Given the description of an element on the screen output the (x, y) to click on. 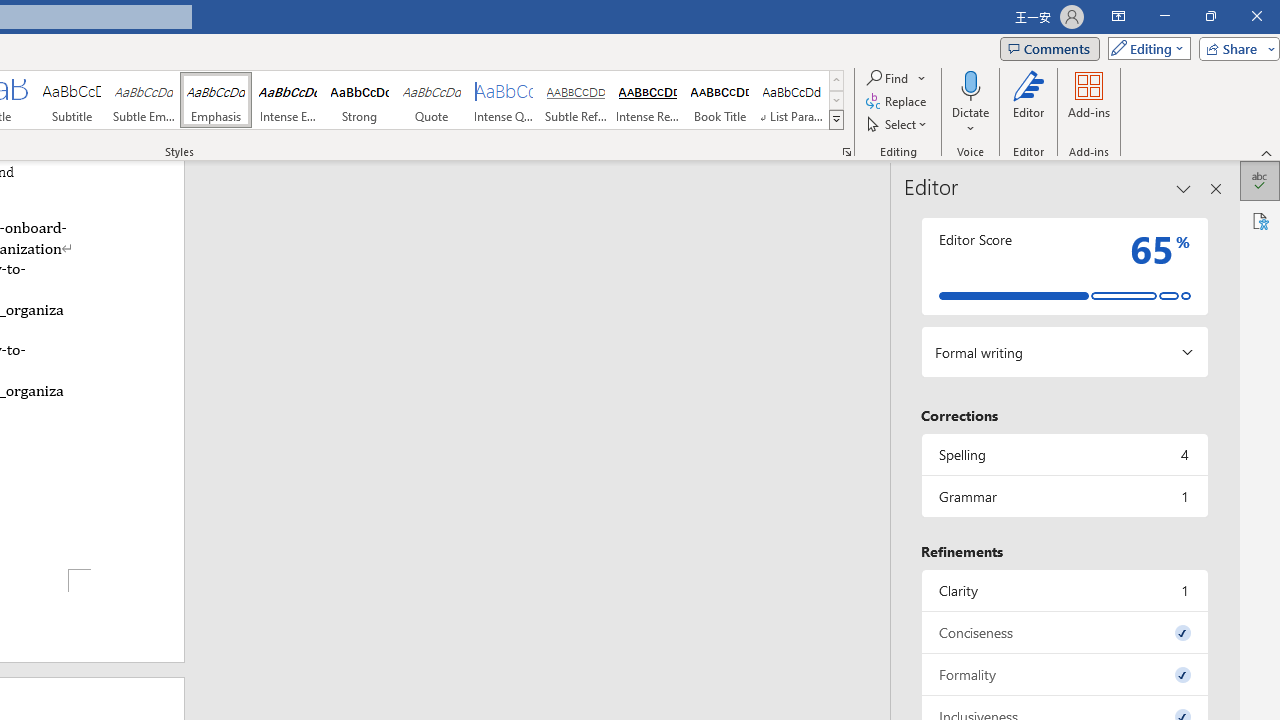
Intense Emphasis (287, 100)
Strong (359, 100)
Clarity, 1 issue. Press space or enter to review items. (1064, 590)
Subtle Emphasis (143, 100)
Intense Reference (647, 100)
Subtle Reference (575, 100)
